Given the description of an element on the screen output the (x, y) to click on. 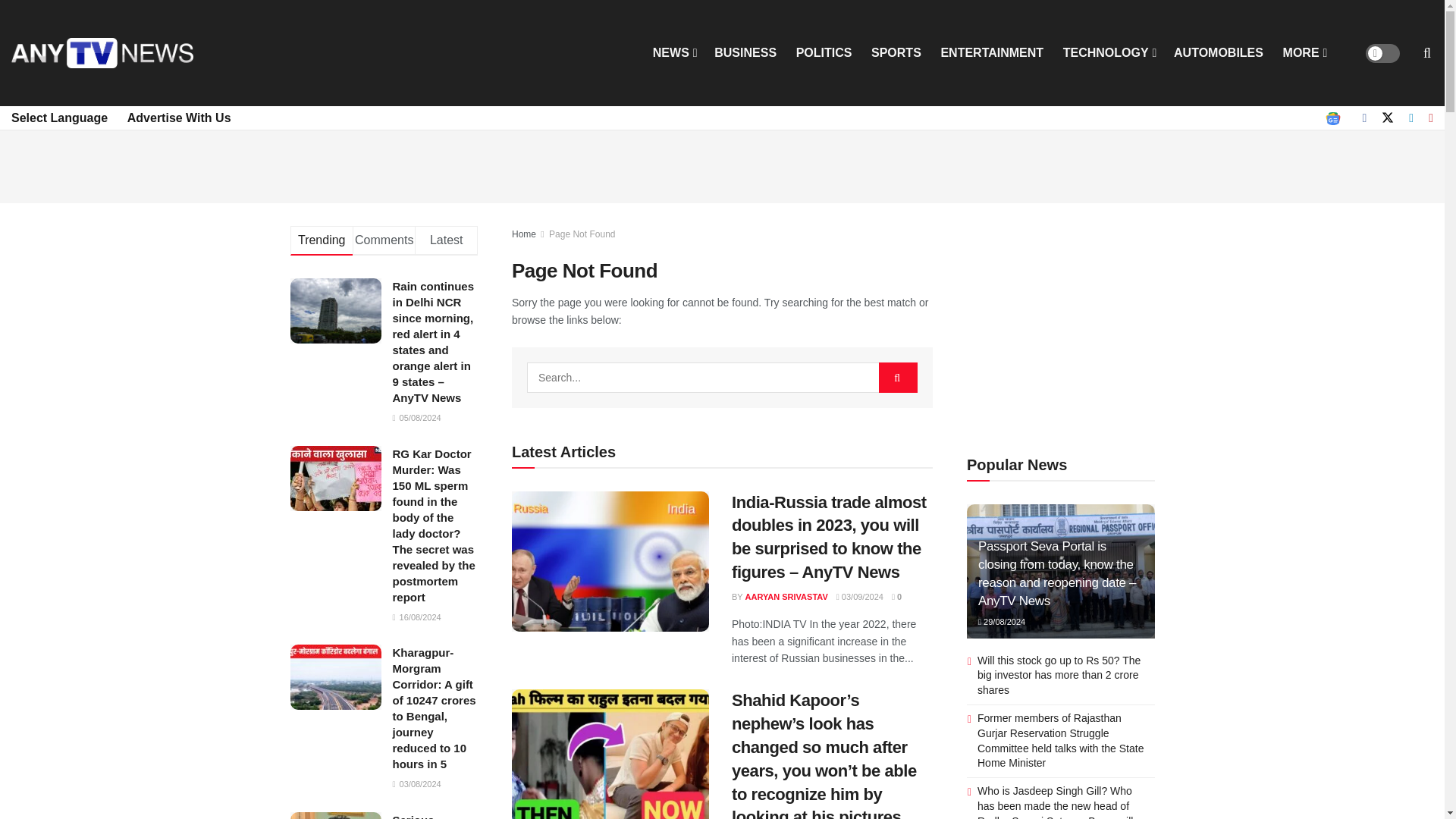
AUTOMOBILES (1218, 52)
Advertise With Us (179, 118)
BUSINESS (745, 52)
TECHNOLOGY (1108, 52)
SPORTS (895, 52)
POLITICS (823, 52)
Select Language (59, 118)
ENTERTAINMENT (991, 52)
NEWS (673, 52)
MORE (1303, 52)
